Given the description of an element on the screen output the (x, y) to click on. 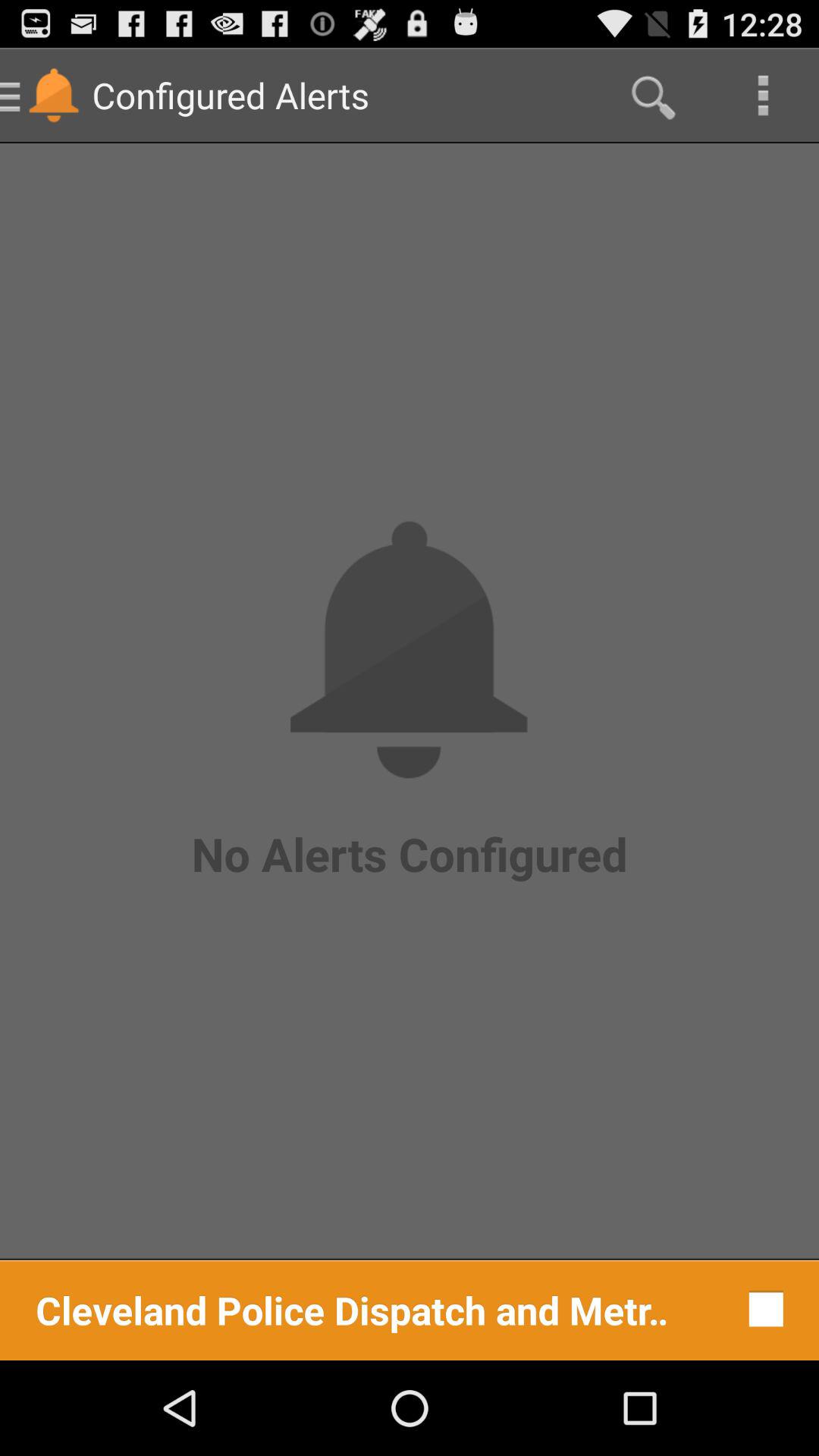
choose item to the right of cleveland police dispatch button (762, 1309)
